Given the description of an element on the screen output the (x, y) to click on. 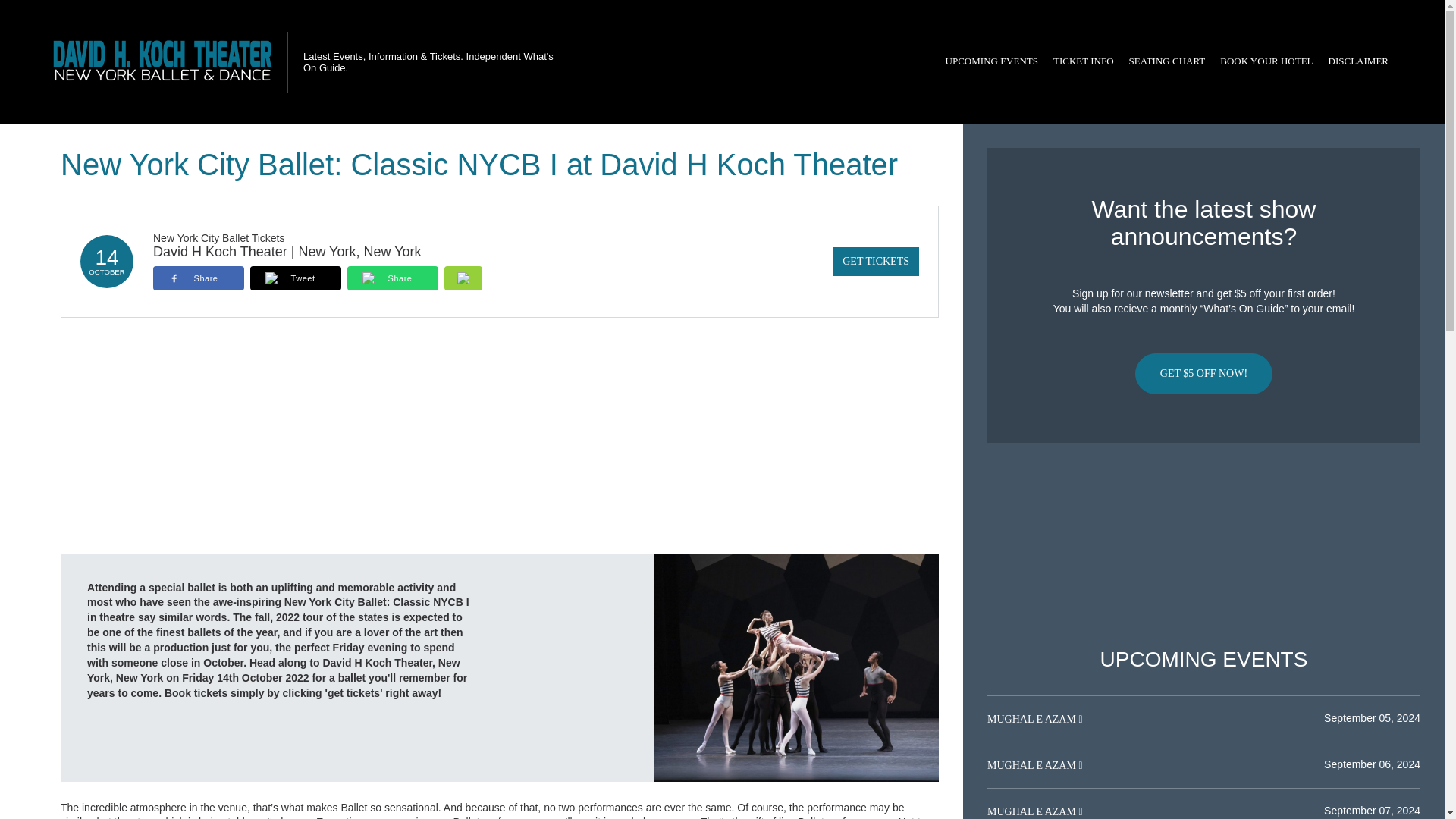
BOOK YOUR HOTEL (1266, 61)
GET TICKETS (875, 261)
New York City Ballet: Classic NYCB I at David H Koch Theater (796, 667)
Advertisement (1204, 545)
DISCLAIMER (1358, 61)
New York City Ballet Tickets (218, 237)
TICKET INFO (1083, 61)
SEATING CHART (1166, 61)
UPCOMING EVENTS (991, 61)
